Given the description of an element on the screen output the (x, y) to click on. 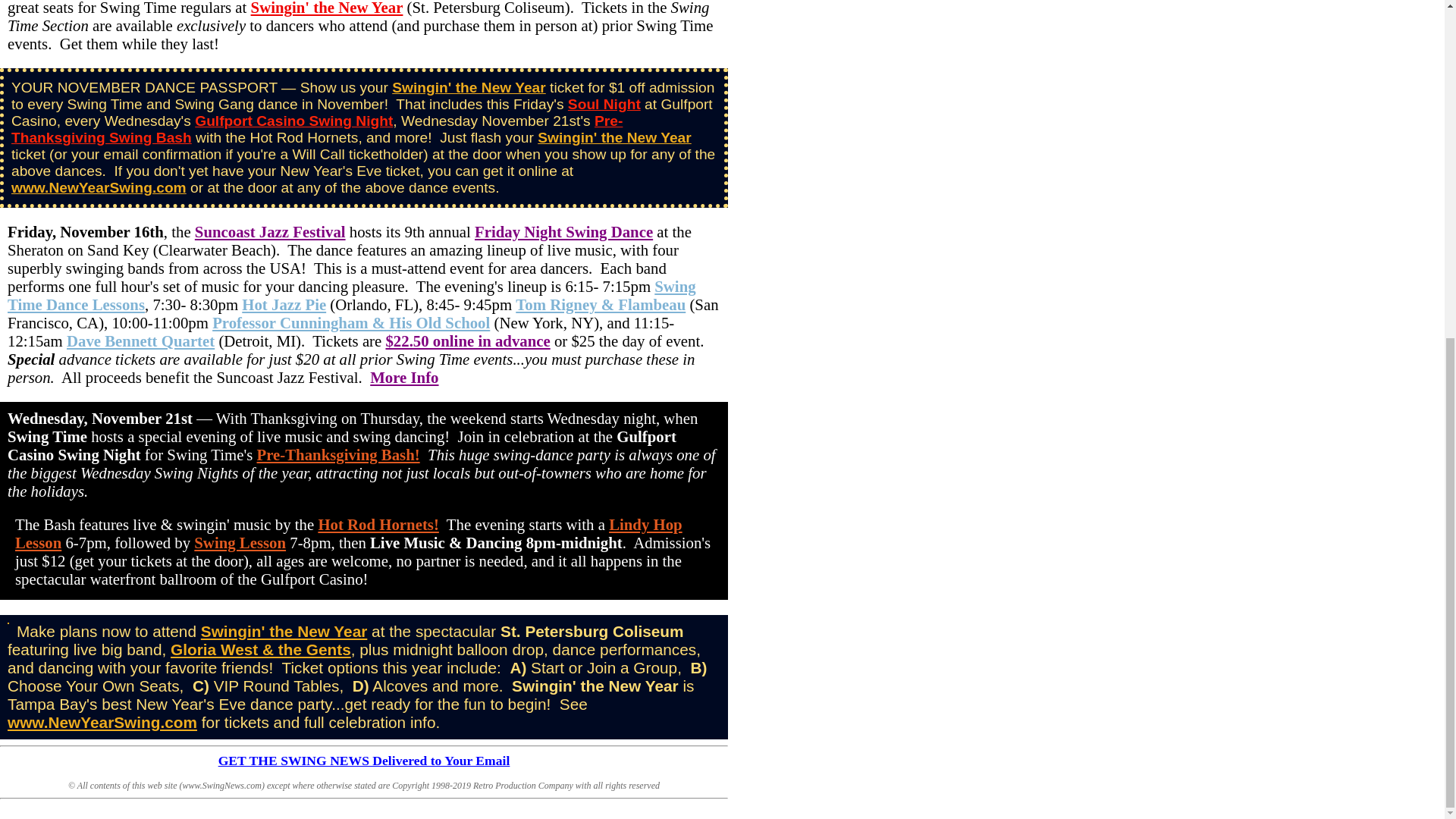
Dave Bennett Quartet (140, 340)
More Info (403, 376)
Soul Night (603, 104)
Pre-Thanksgiving Bash! (338, 454)
Swingin' the New Year (614, 137)
www.NewYearSwing.com (98, 187)
Lindy Hop Lesson (348, 533)
Swing Lesson (239, 542)
Suncoast Jazz Festival (270, 231)
Gulfport Casino Swing Night (294, 120)
Friday Night Swing Dance (563, 231)
Swing Time Dance Lessons (351, 294)
Hot Rod Hornets! (377, 524)
Pre-Thanksgiving Swing Bash (317, 129)
Swingin' the New Year (468, 87)
